Given the description of an element on the screen output the (x, y) to click on. 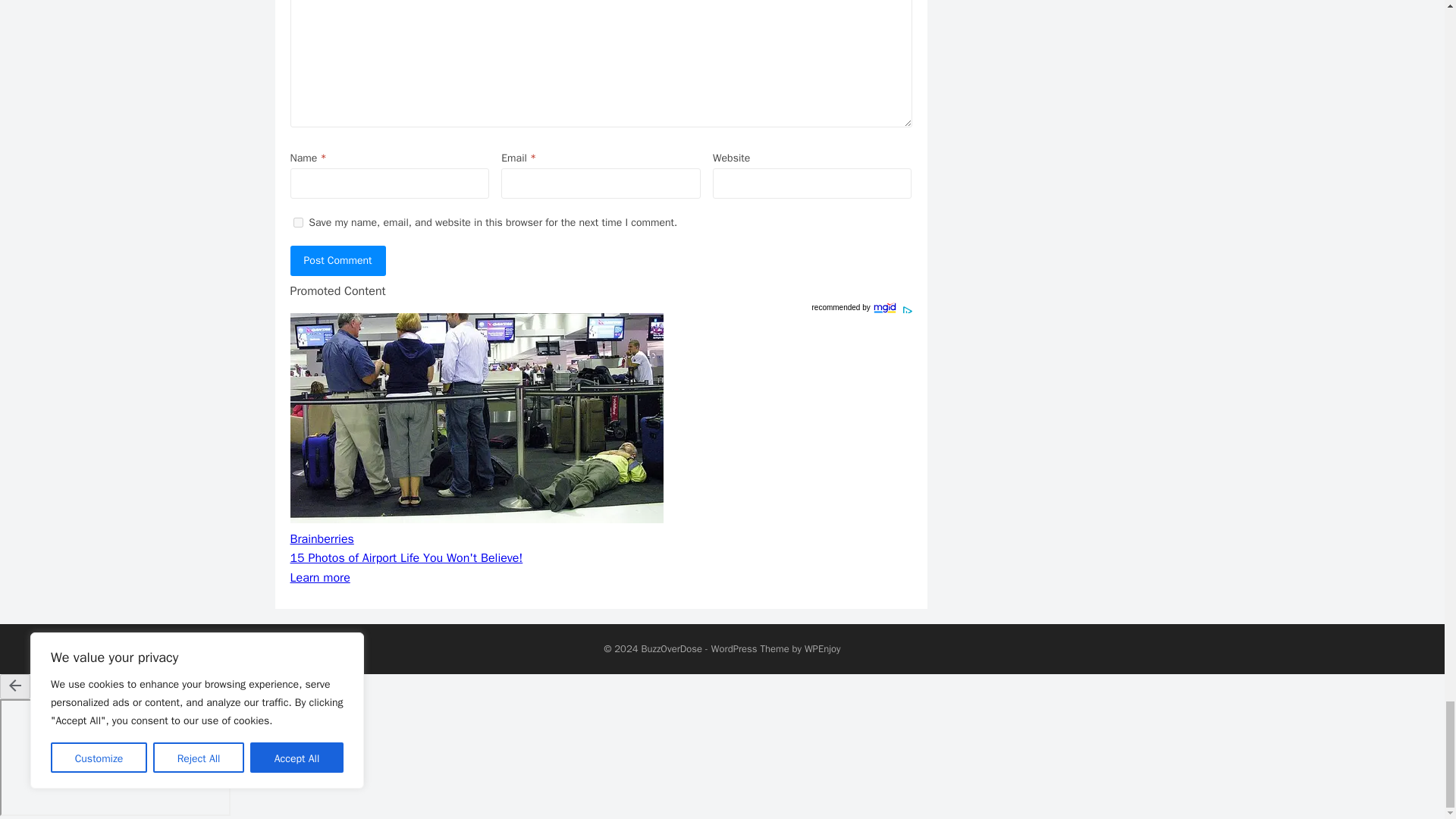
Post Comment (337, 260)
yes (297, 222)
